Given the description of an element on the screen output the (x, y) to click on. 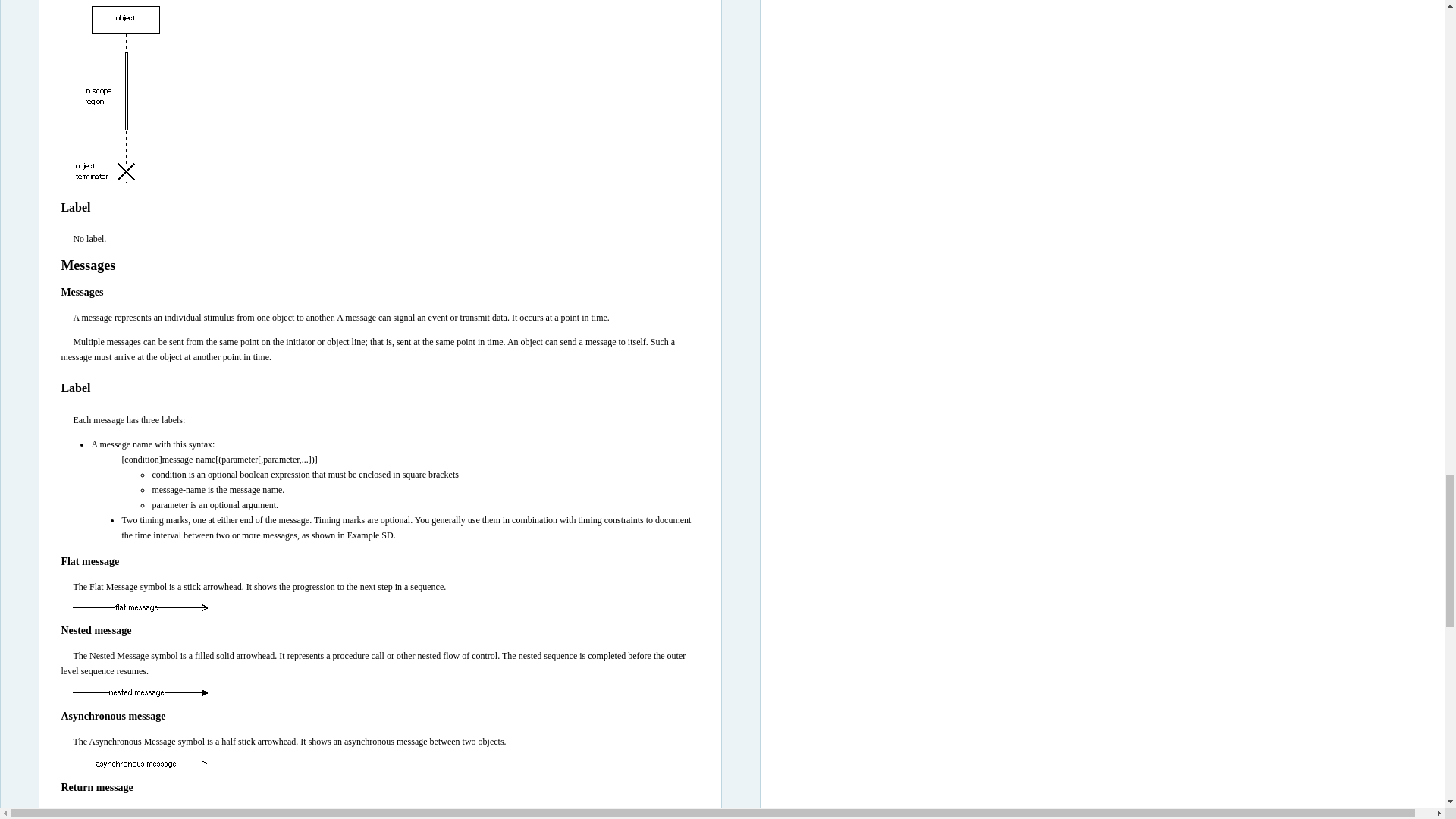
Example SD (370, 534)
